Given the description of an element on the screen output the (x, y) to click on. 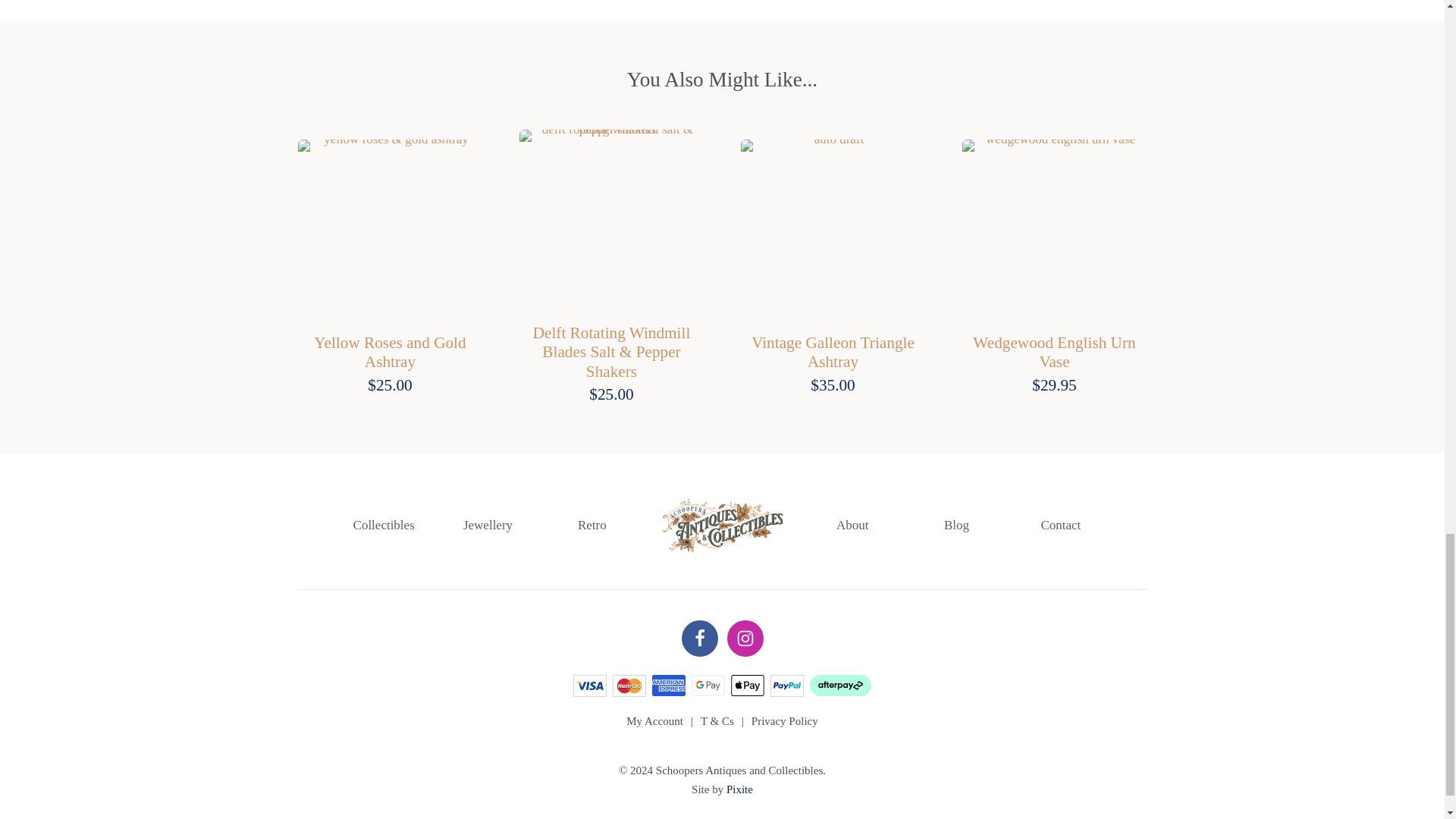
Contact (1060, 525)
Collectibles (383, 525)
About (852, 525)
Retro (592, 525)
Pixite (739, 788)
Blog (956, 525)
Privacy Policy (784, 720)
Jewellery (487, 525)
My Account (654, 720)
